Given the description of an element on the screen output the (x, y) to click on. 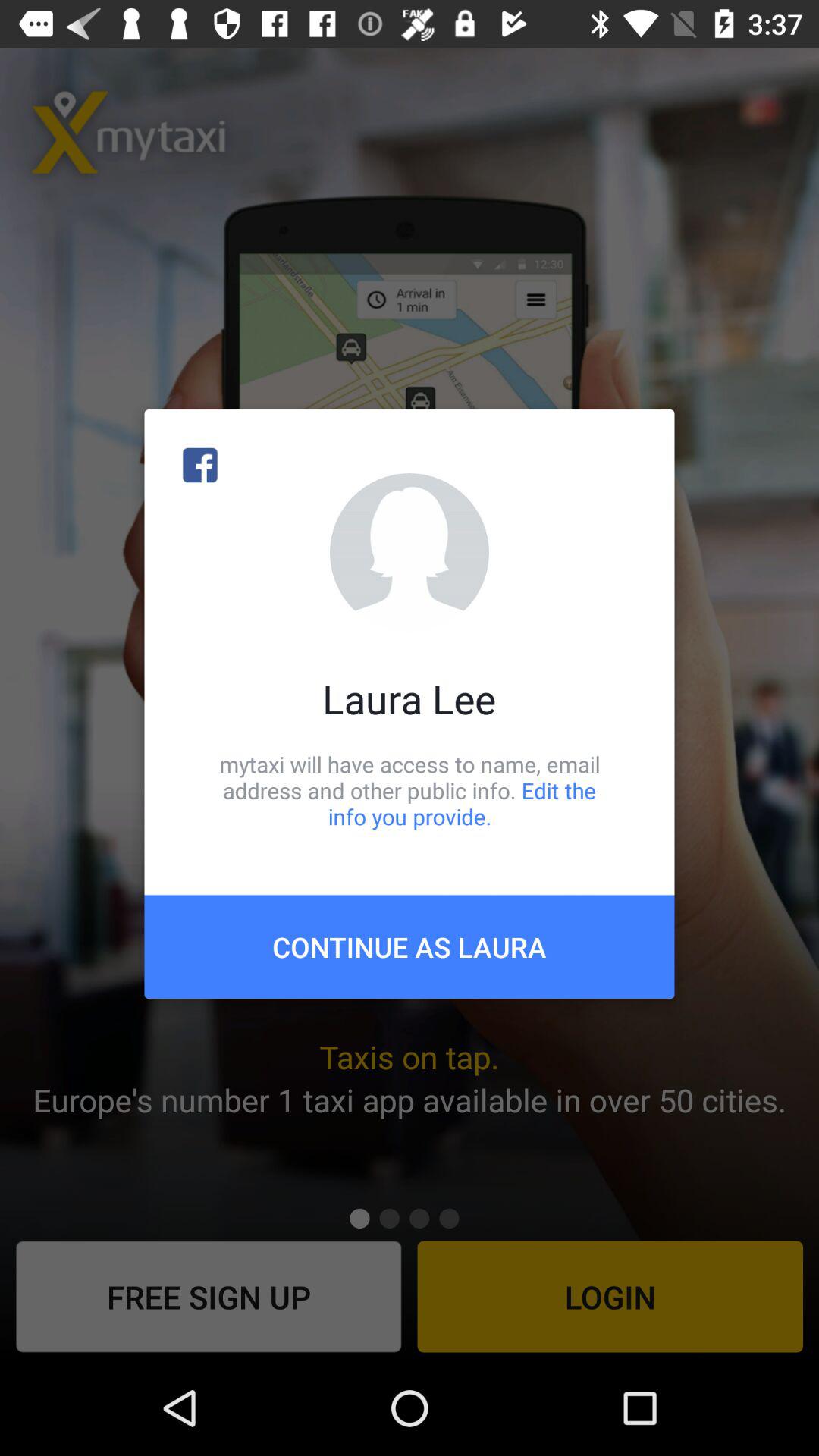
click icon below the mytaxi will have item (409, 946)
